Given the description of an element on the screen output the (x, y) to click on. 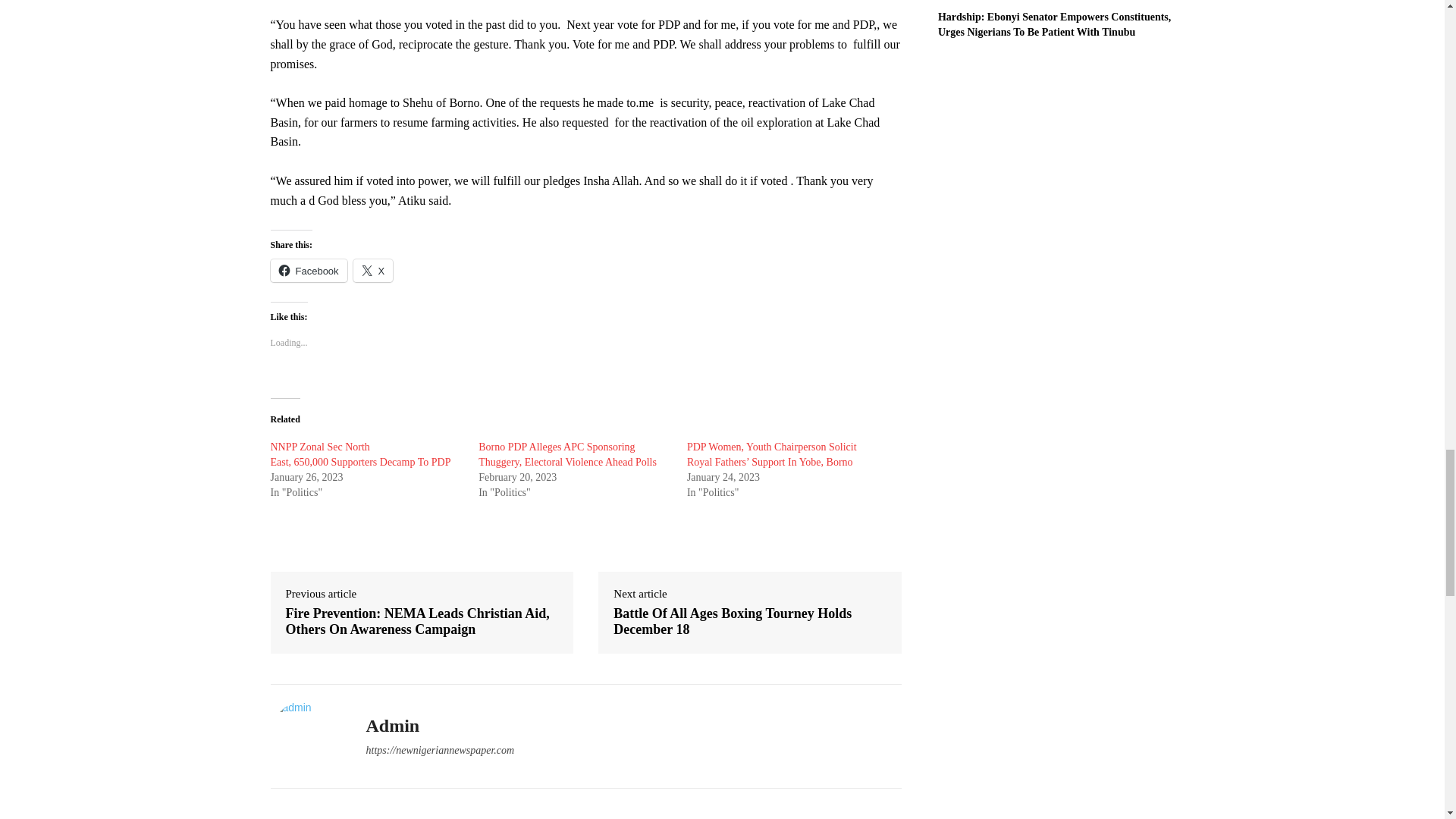
Click to share on Facebook (307, 270)
X (373, 270)
Facebook (307, 270)
admin (305, 736)
Click to share on X (373, 270)
